Given the description of an element on the screen output the (x, y) to click on. 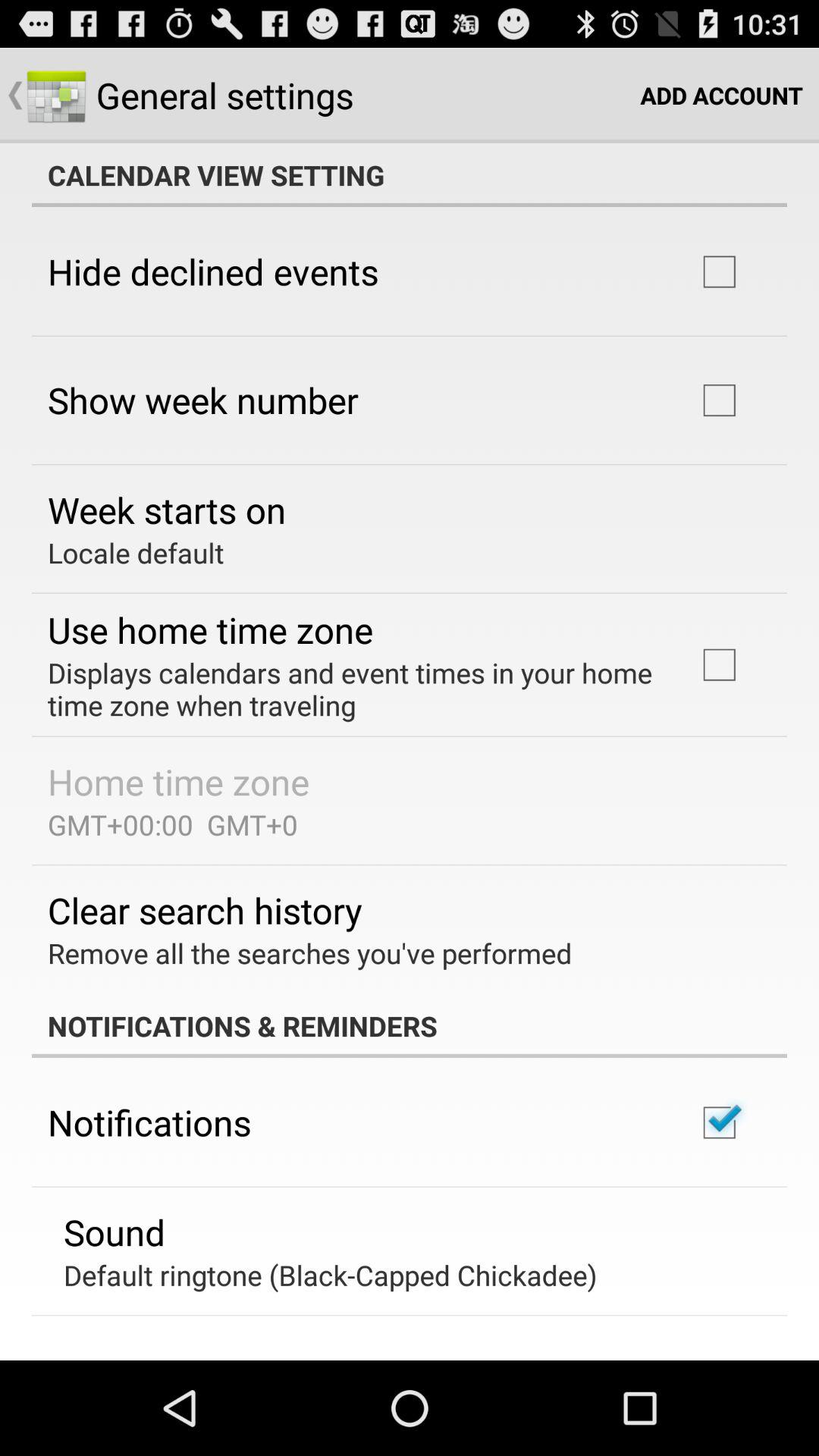
swipe until the sound icon (114, 1232)
